Given the description of an element on the screen output the (x, y) to click on. 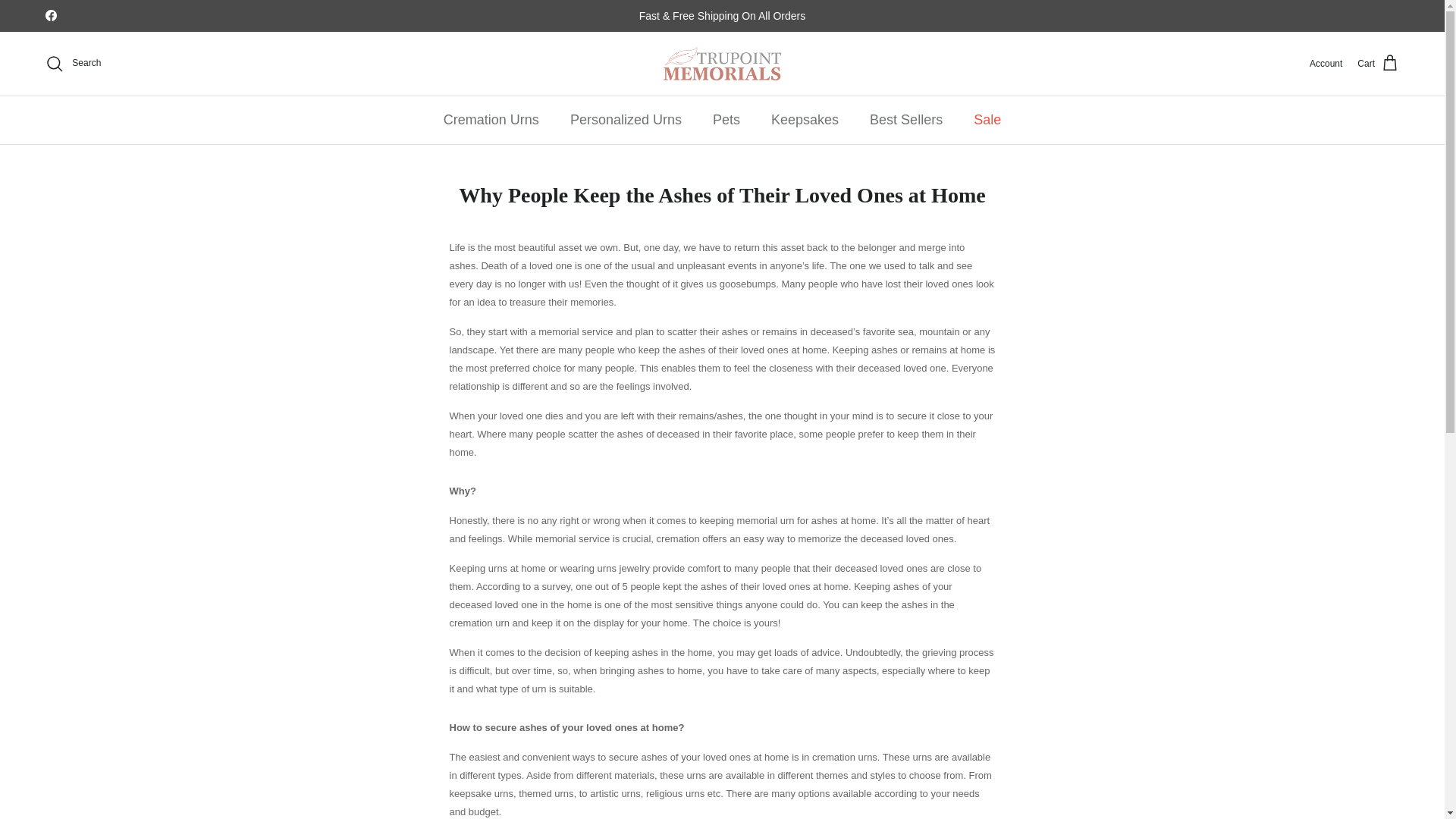
Trupoint Memorials (721, 63)
Cremation Urns (491, 120)
Account (1325, 63)
Trupoint Memorials on Facebook (50, 15)
Search (72, 63)
Facebook (50, 15)
Cart (1377, 63)
